Given the description of an element on the screen output the (x, y) to click on. 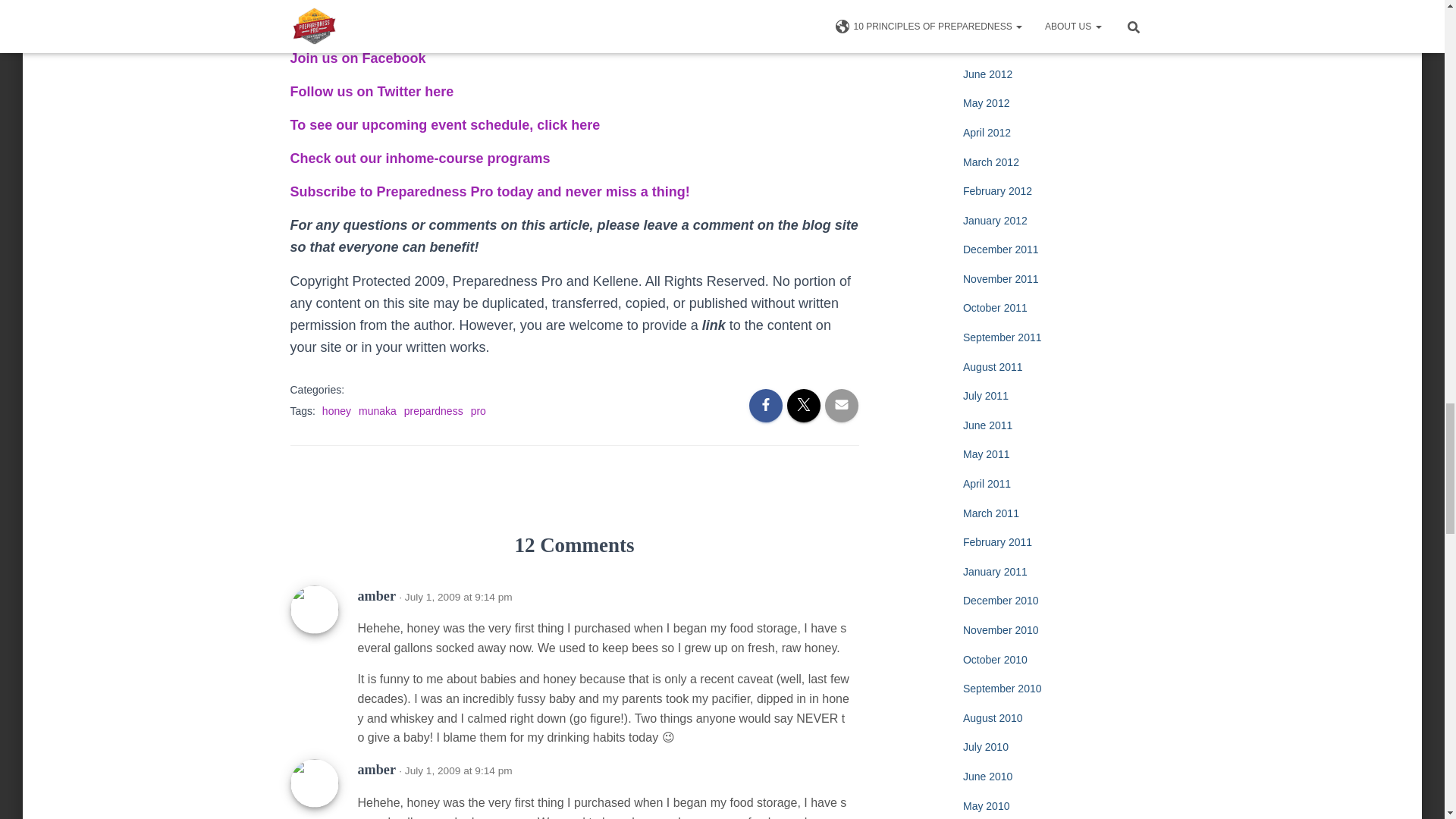
pro (478, 410)
prepardness (433, 410)
Join us on Facebook (357, 58)
honey (335, 410)
Subscribe to Preparedness Pro today and never miss a thing! (488, 191)
Check out our inhome-course programs (419, 158)
munaka (377, 410)
To see our upcoming event schedule, click here (444, 124)
Follow us on Twitter here (370, 91)
